Given the description of an element on the screen output the (x, y) to click on. 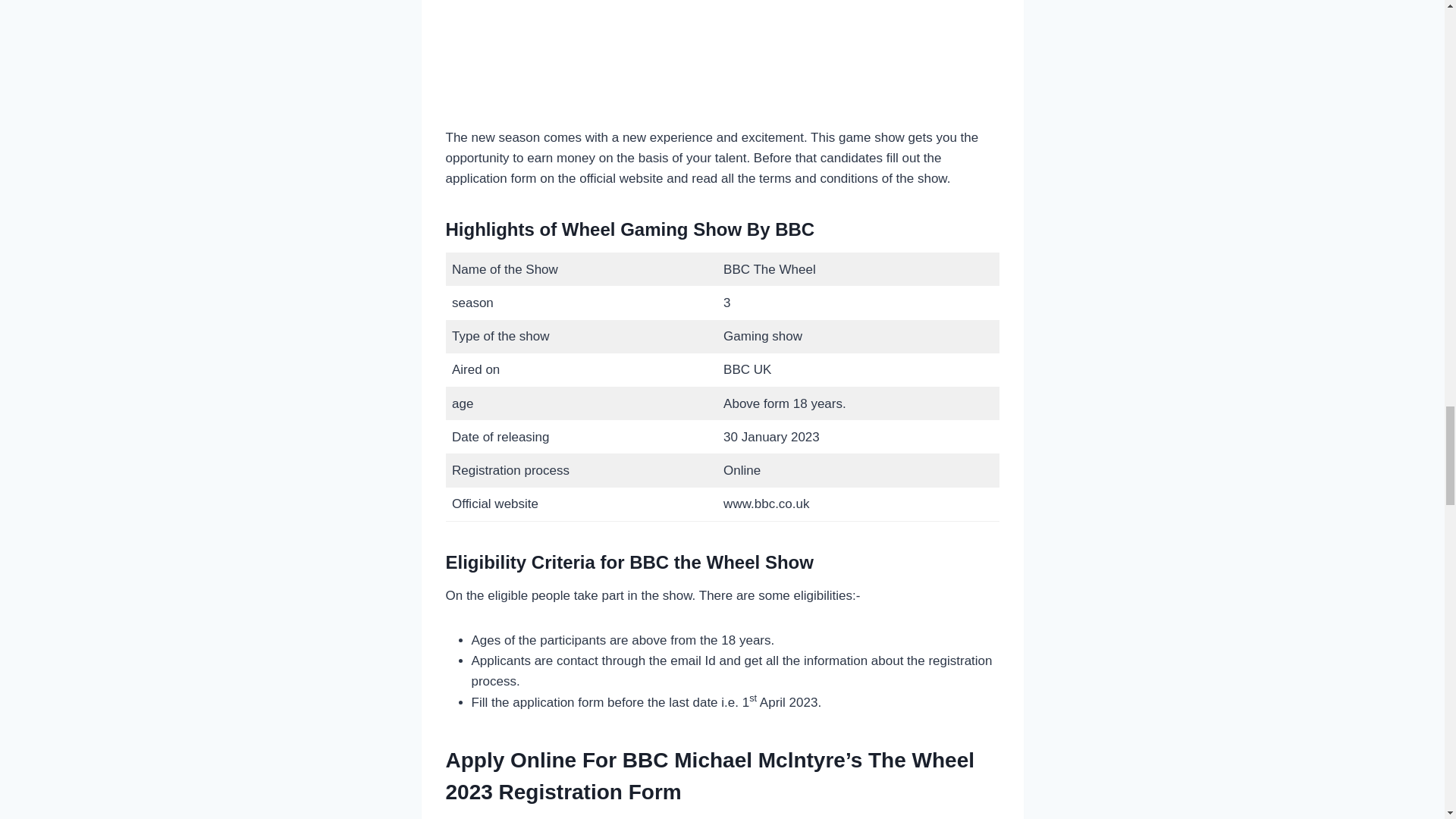
Advertisement (721, 59)
